Given the description of an element on the screen output the (x, y) to click on. 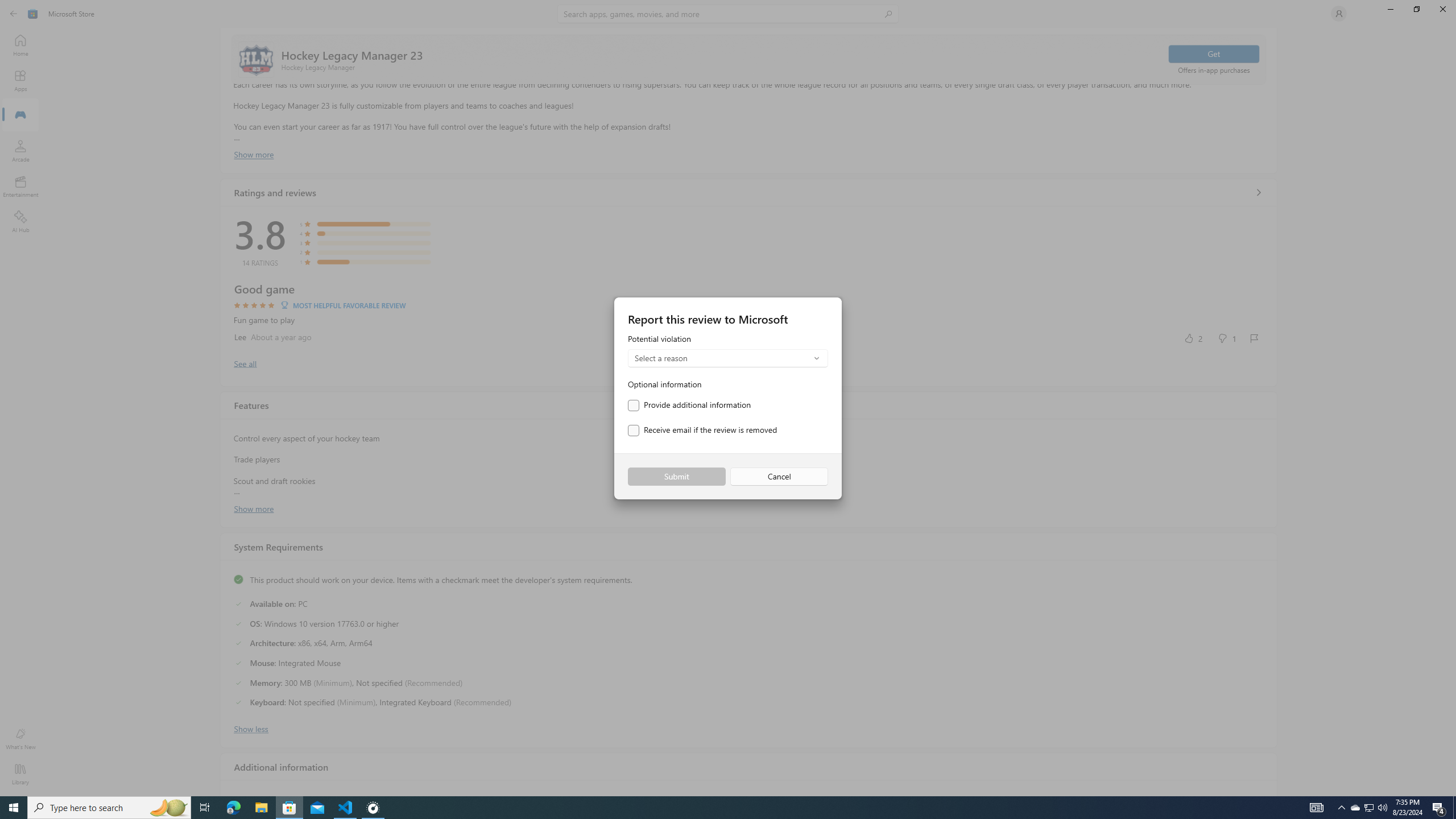
Show all ratings and reviews (1258, 192)
Show all ratings and reviews (244, 362)
Cancel (779, 476)
Scroll to top (748, 59)
Report review (1253, 338)
Review by Lee. Rated 5 out of five stars. Good game. (748, 313)
Yes, this was helpful. 2 votes. (1192, 338)
Back (13, 13)
Get (1213, 53)
Provide additional information (689, 405)
Receive email if the review is removed (702, 430)
